Given the description of an element on the screen output the (x, y) to click on. 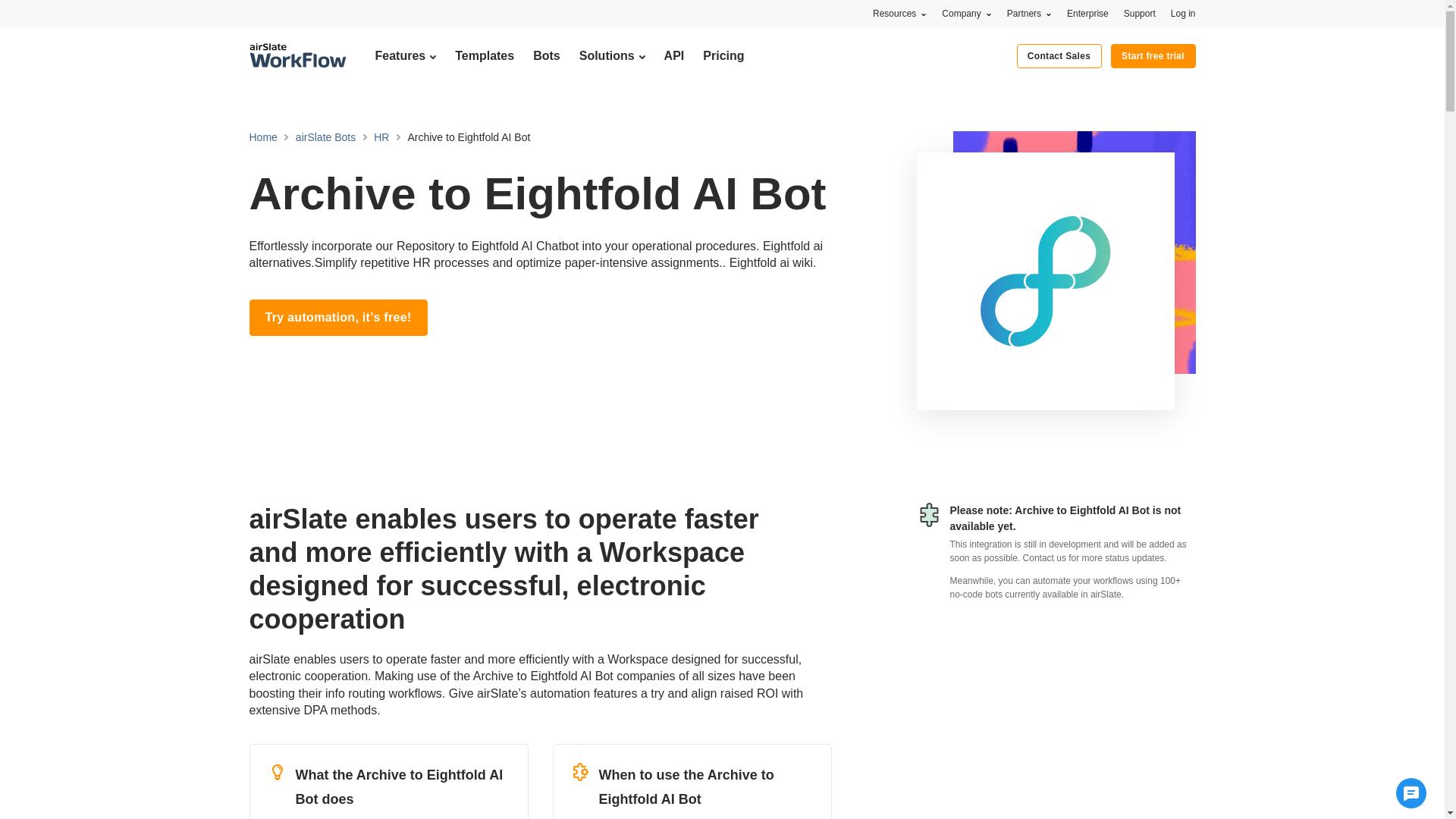
Resources (899, 13)
Templates (483, 55)
Partners (1029, 13)
Company (966, 13)
Enterprise (1087, 13)
Log in (1182, 13)
Support (1140, 13)
